Given the description of an element on the screen output the (x, y) to click on. 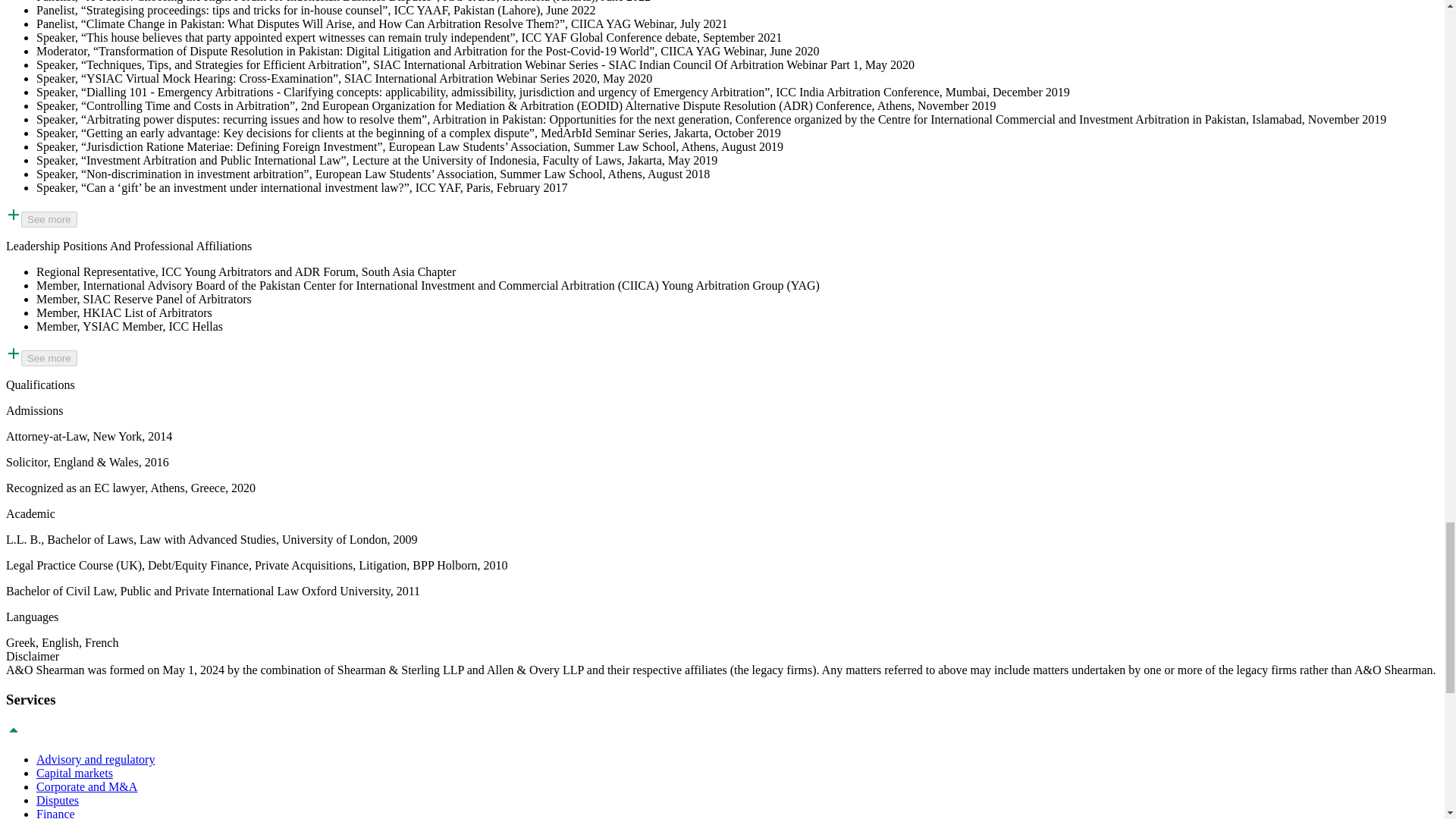
Finance (55, 813)
Disputes (57, 799)
Advisory and regulatory (95, 758)
See more (49, 358)
See more (49, 219)
Capital markets (74, 772)
